Given the description of an element on the screen output the (x, y) to click on. 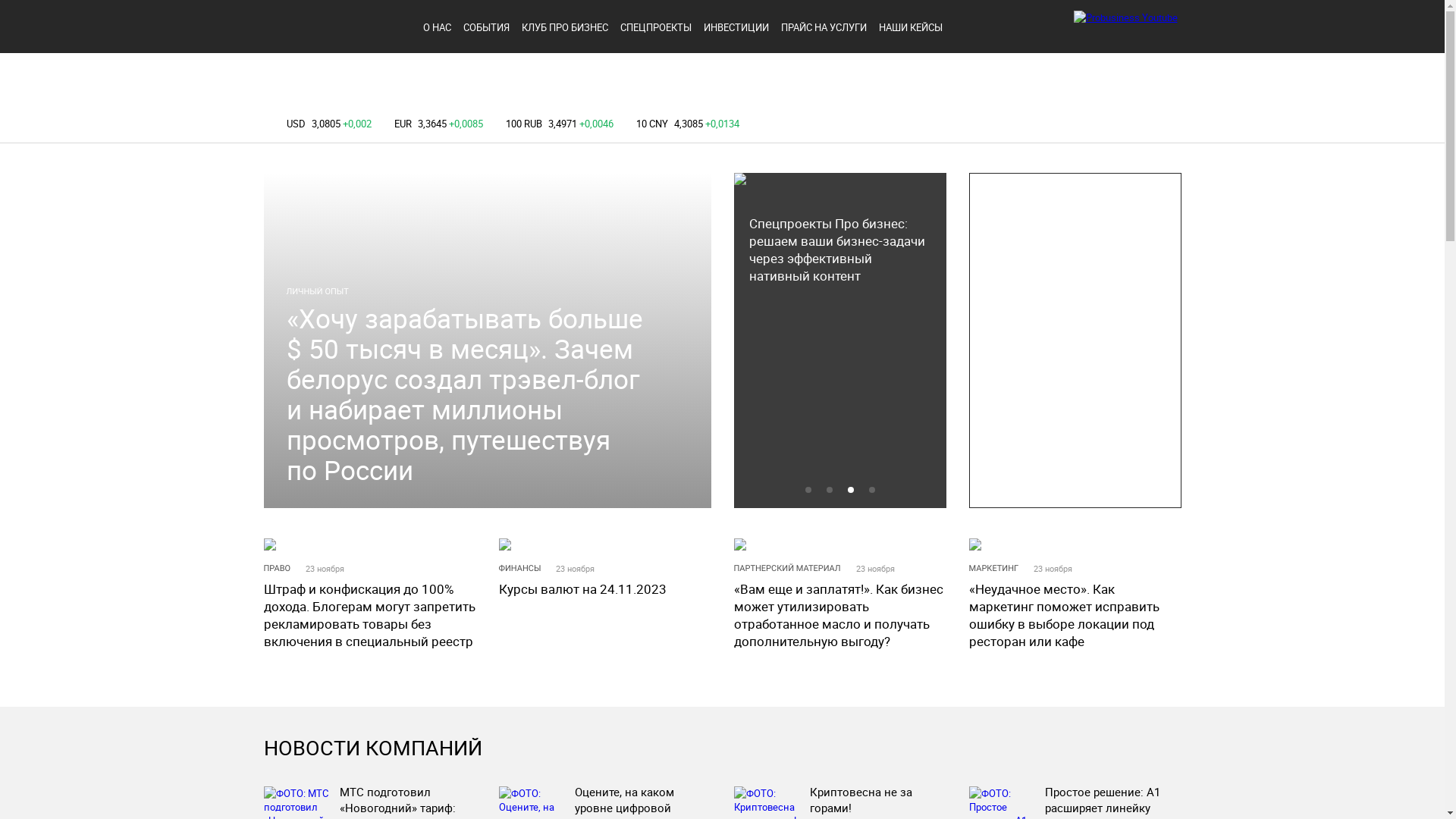
Probusiness Youtube Element type: hover (1125, 17)
probusiness.io Element type: text (333, 25)
